Given the description of an element on the screen output the (x, y) to click on. 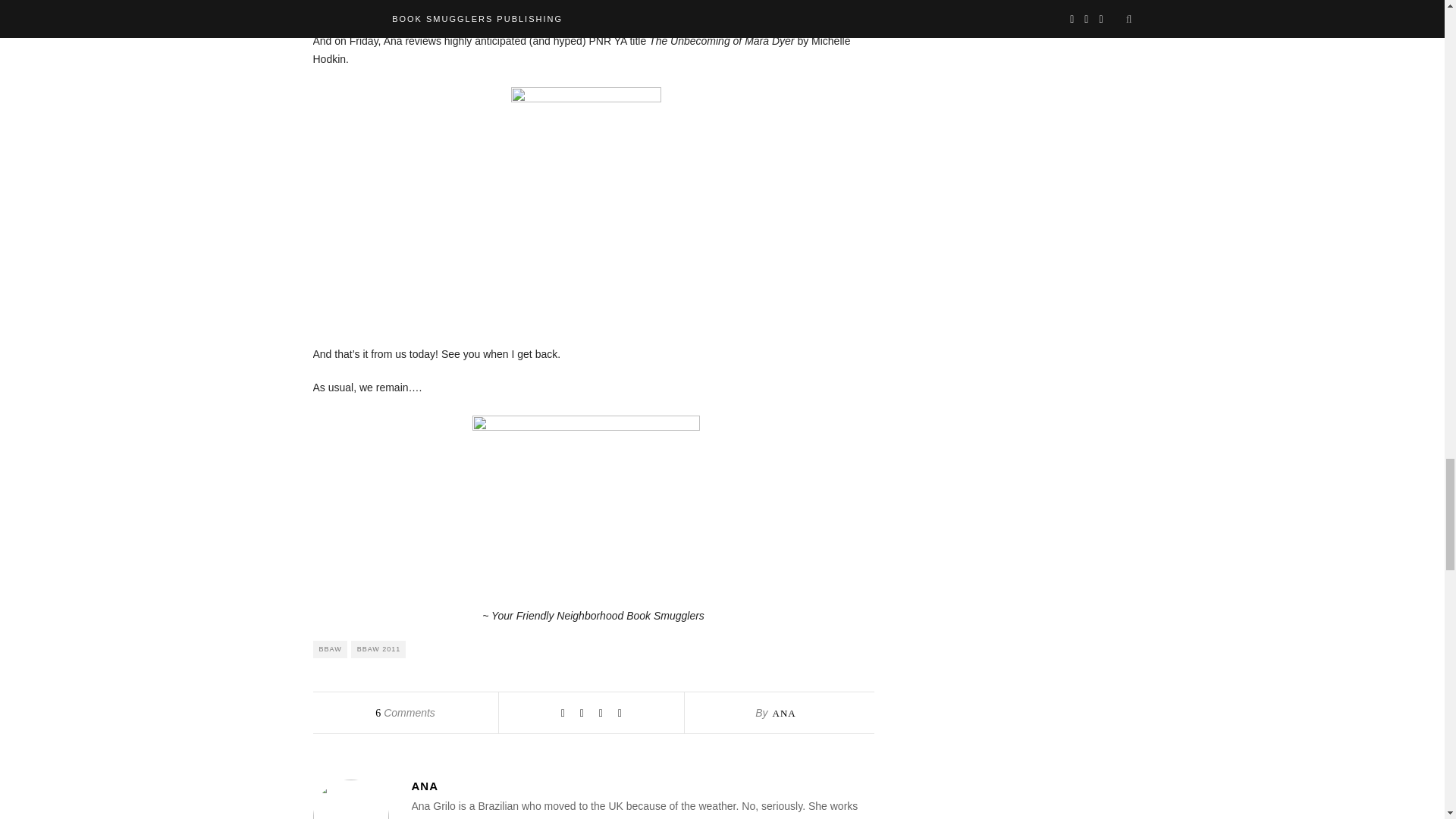
ANA (782, 713)
BBAW 2011 (378, 649)
Posts by Ana (641, 785)
ANA (641, 785)
Time's new Roman (584, 497)
BBAW (329, 649)
Posts by Ana (782, 713)
6 Comments (405, 712)
